Given the description of an element on the screen output the (x, y) to click on. 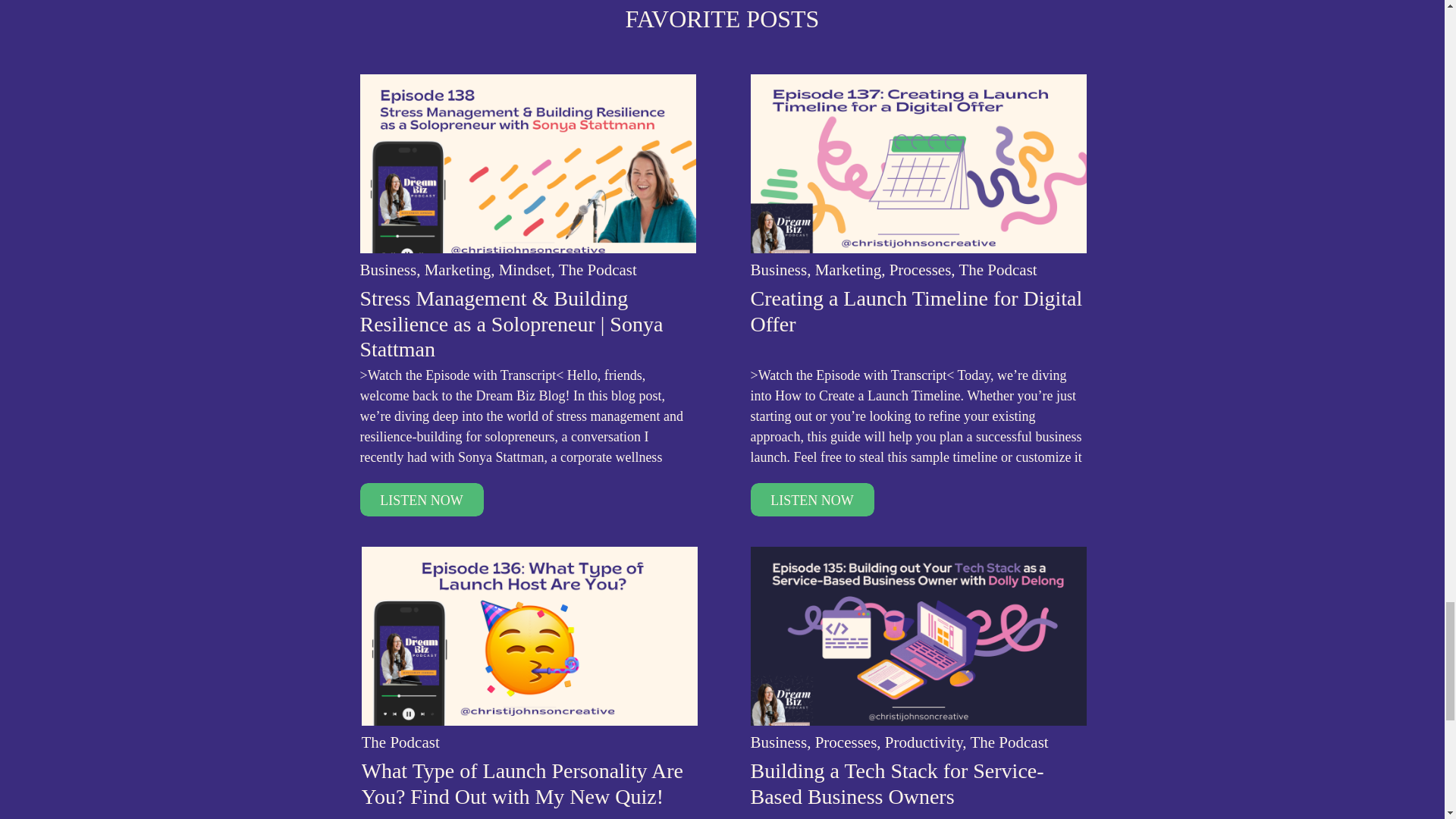
Creating a Launch Timeline for Digital Offer (918, 163)
Creating a Launch Timeline for Digital Offer (813, 499)
Building a Tech Stack for Service-Based Business Owners (918, 636)
